Given the description of an element on the screen output the (x, y) to click on. 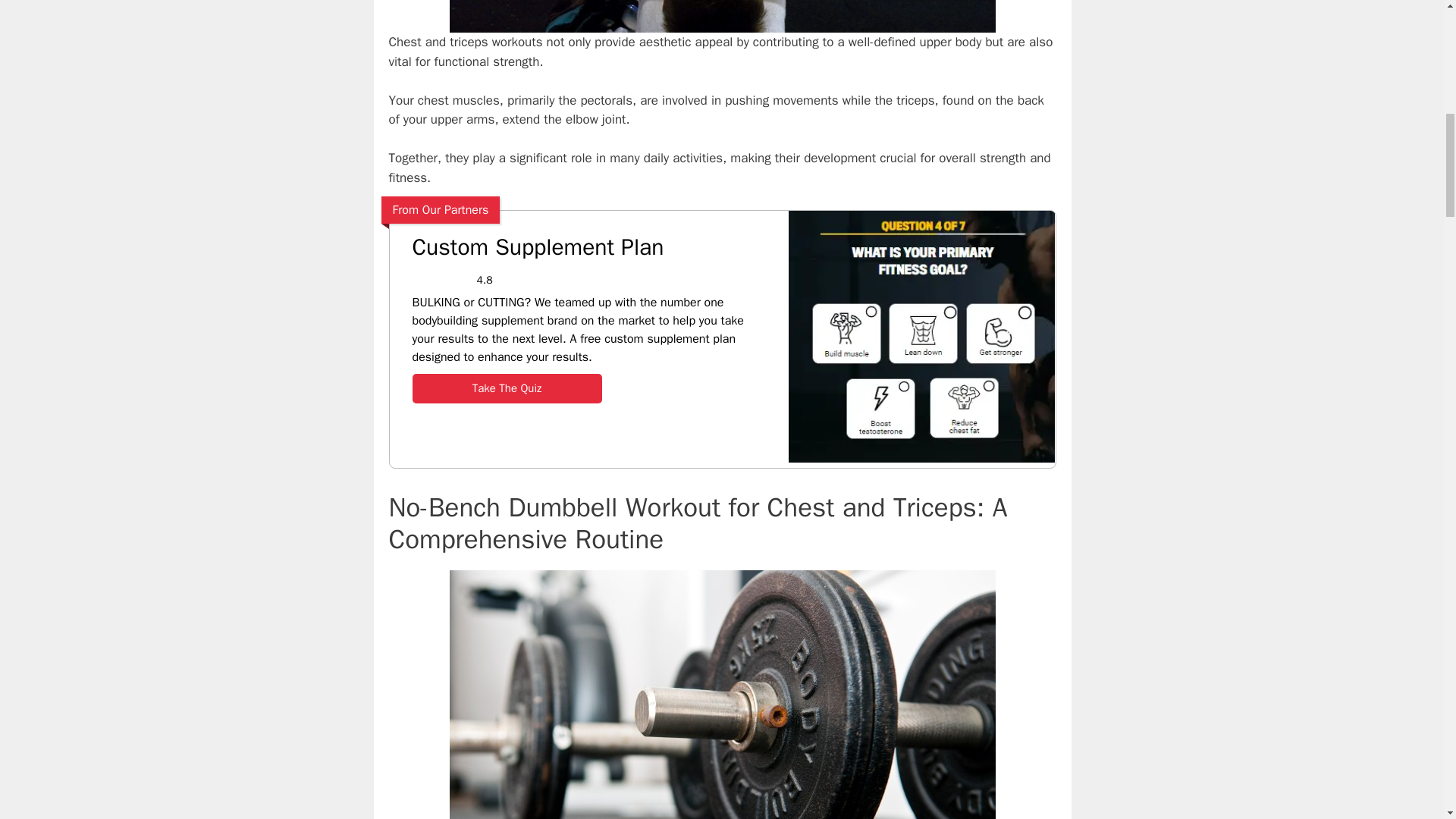
Custom Supplement Plan (921, 462)
Custom Supplement Plan (589, 247)
Custom Supplement Plan (507, 387)
